Given the description of an element on the screen output the (x, y) to click on. 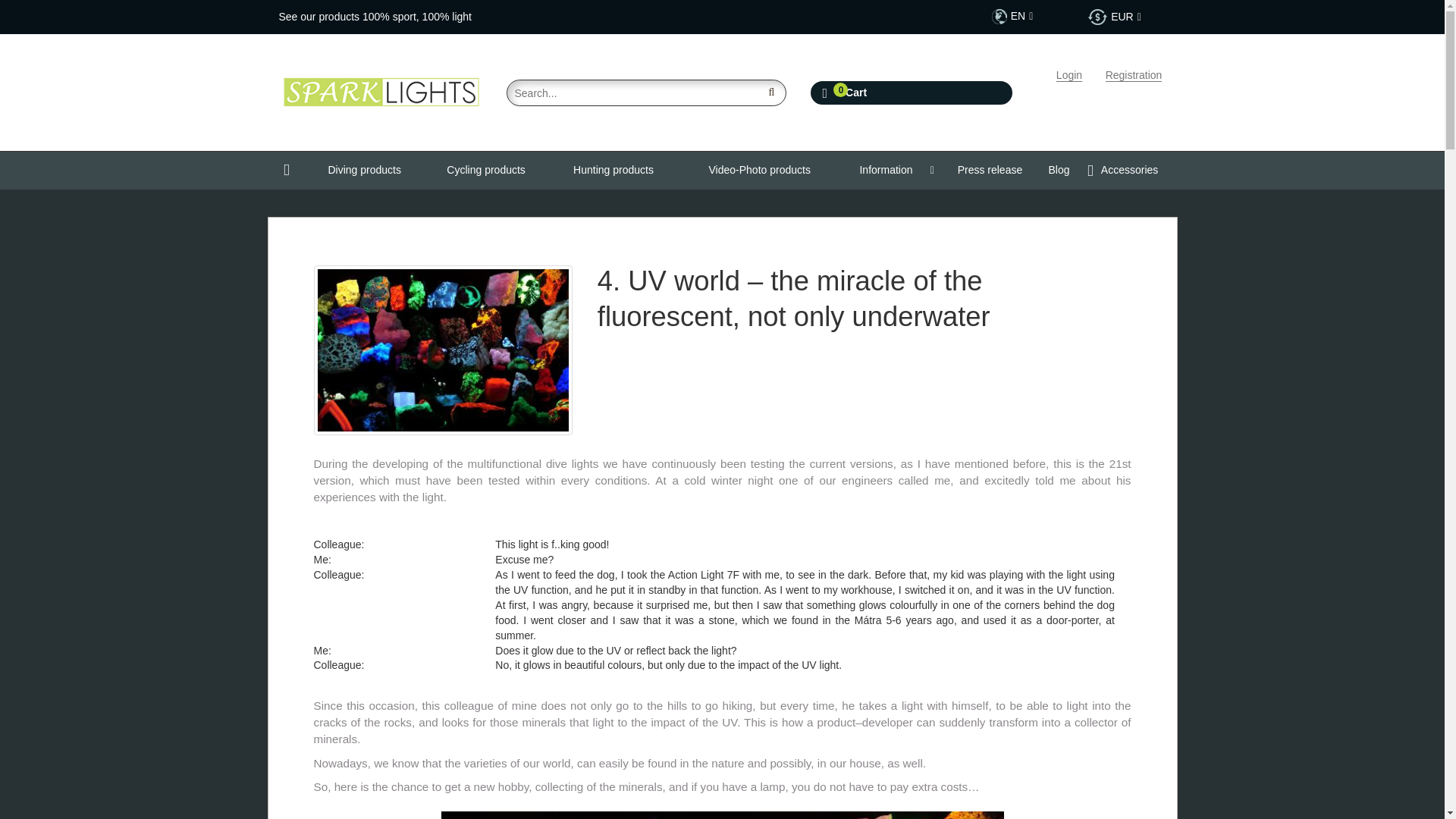
Press release (989, 170)
home (381, 87)
Blog (1058, 170)
Registration (1133, 74)
Diving products (364, 170)
Information (889, 170)
Cycling products (485, 170)
Login (1069, 74)
Video-Photo products (759, 170)
Hunting products (613, 170)
